Given the description of an element on the screen output the (x, y) to click on. 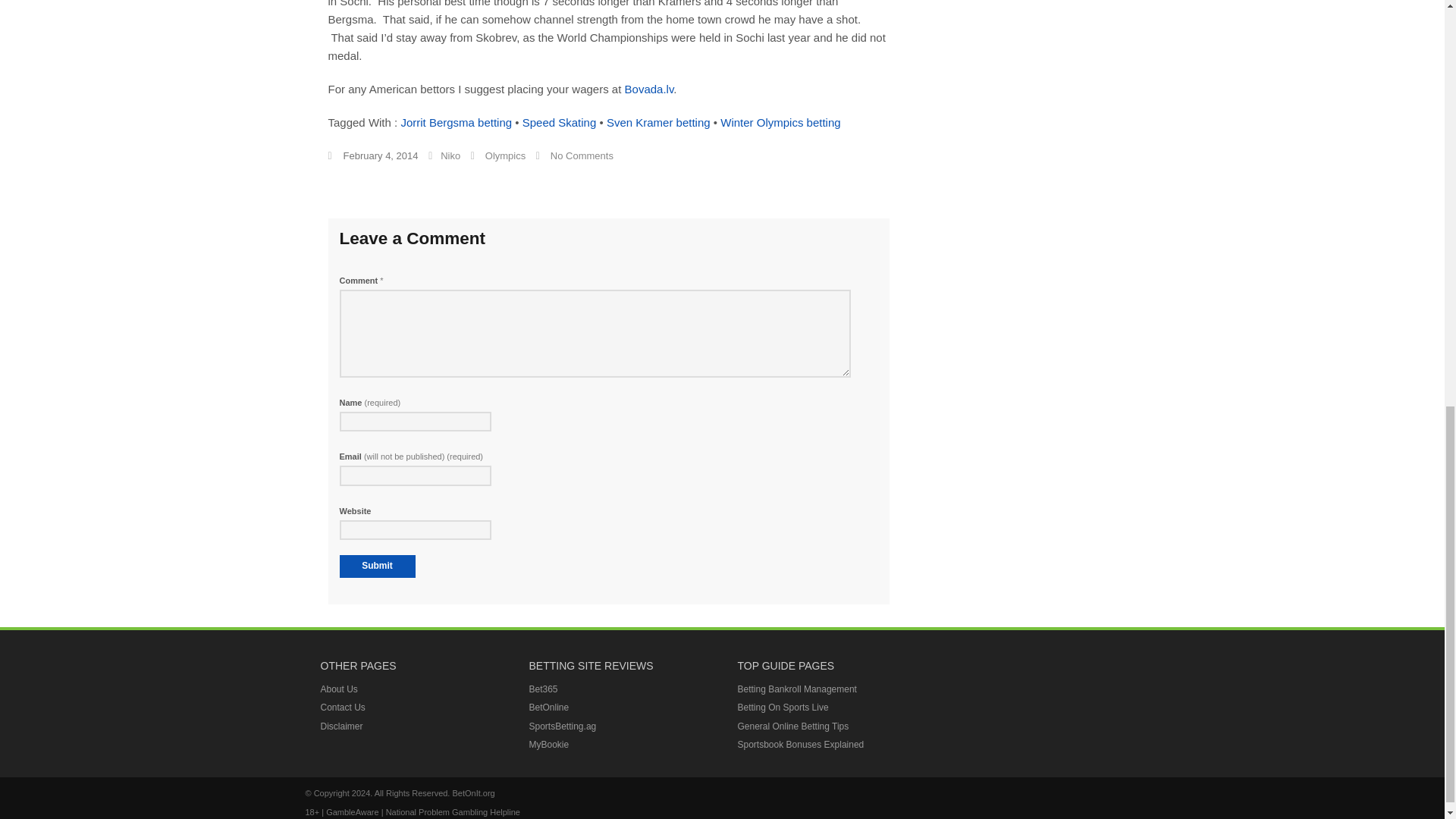
Submit (376, 566)
